Given the description of an element on the screen output the (x, y) to click on. 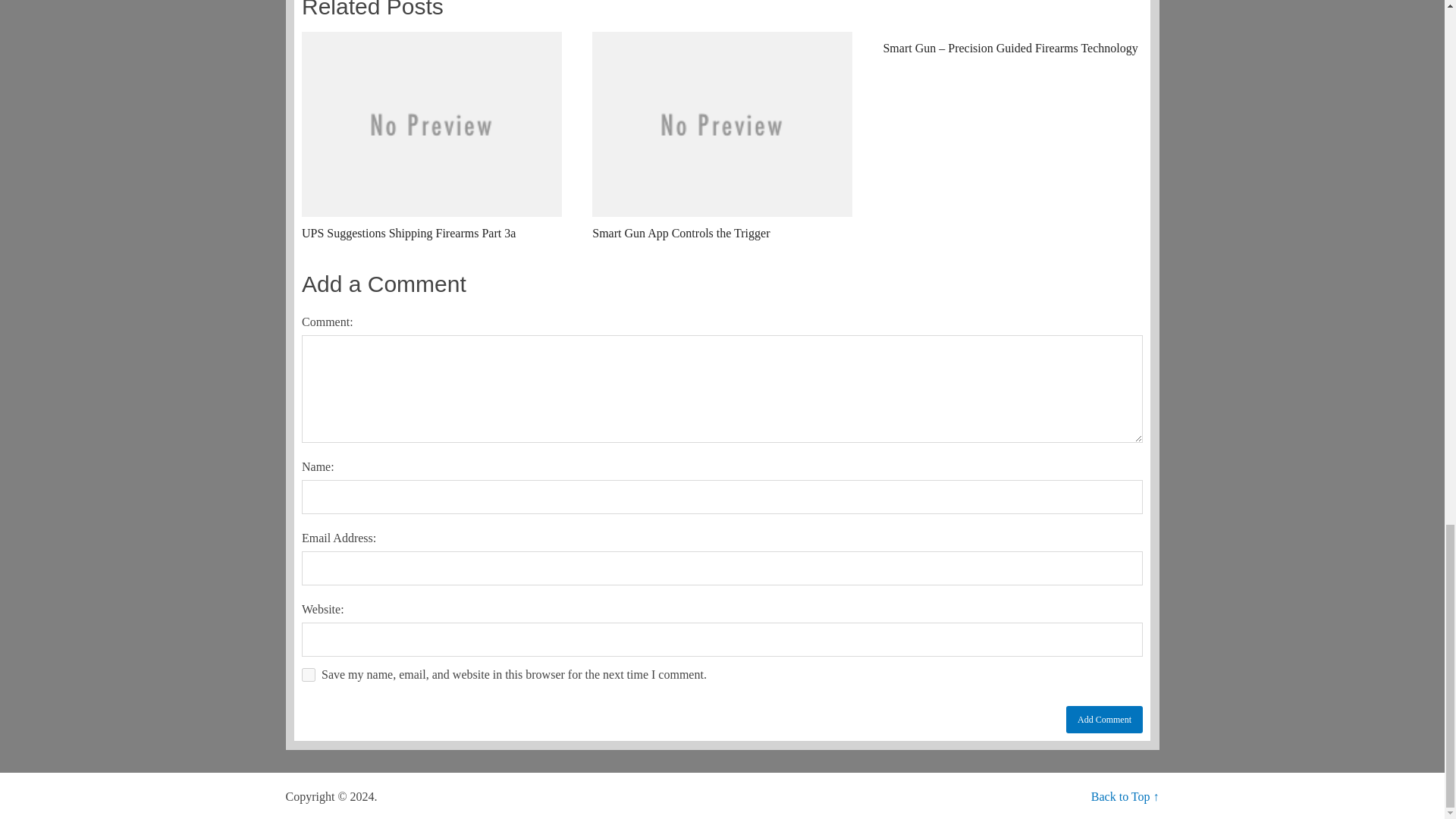
yes (308, 674)
Add Comment (1103, 719)
Smart Gun App Controls the Trigger (721, 136)
UPS Suggestions Shipping Firearms Part 3a (430, 136)
